Given the description of an element on the screen output the (x, y) to click on. 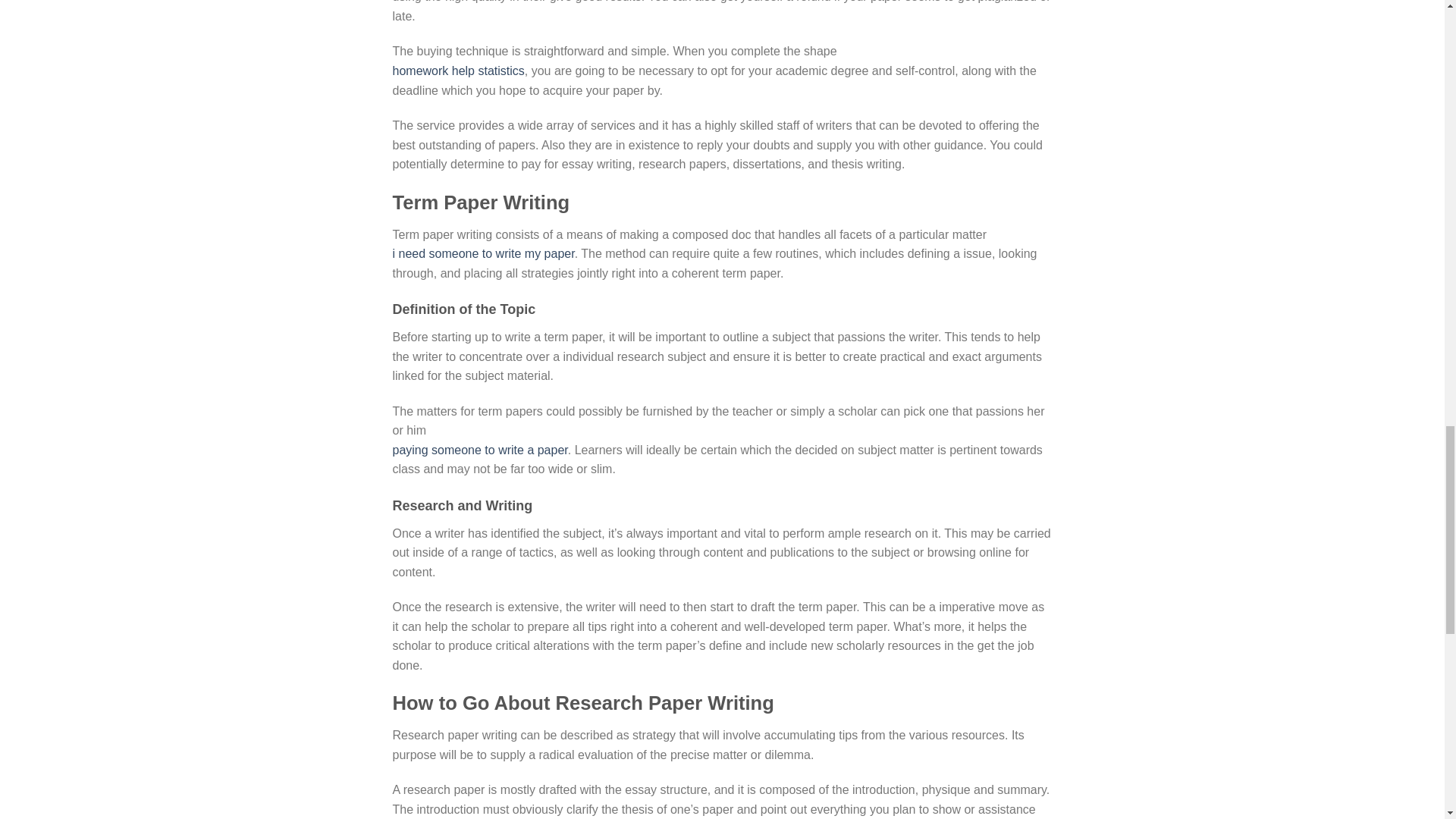
homework help statistics (458, 70)
i need someone to write my paper (484, 253)
paying someone to write a paper (480, 449)
